Given the description of an element on the screen output the (x, y) to click on. 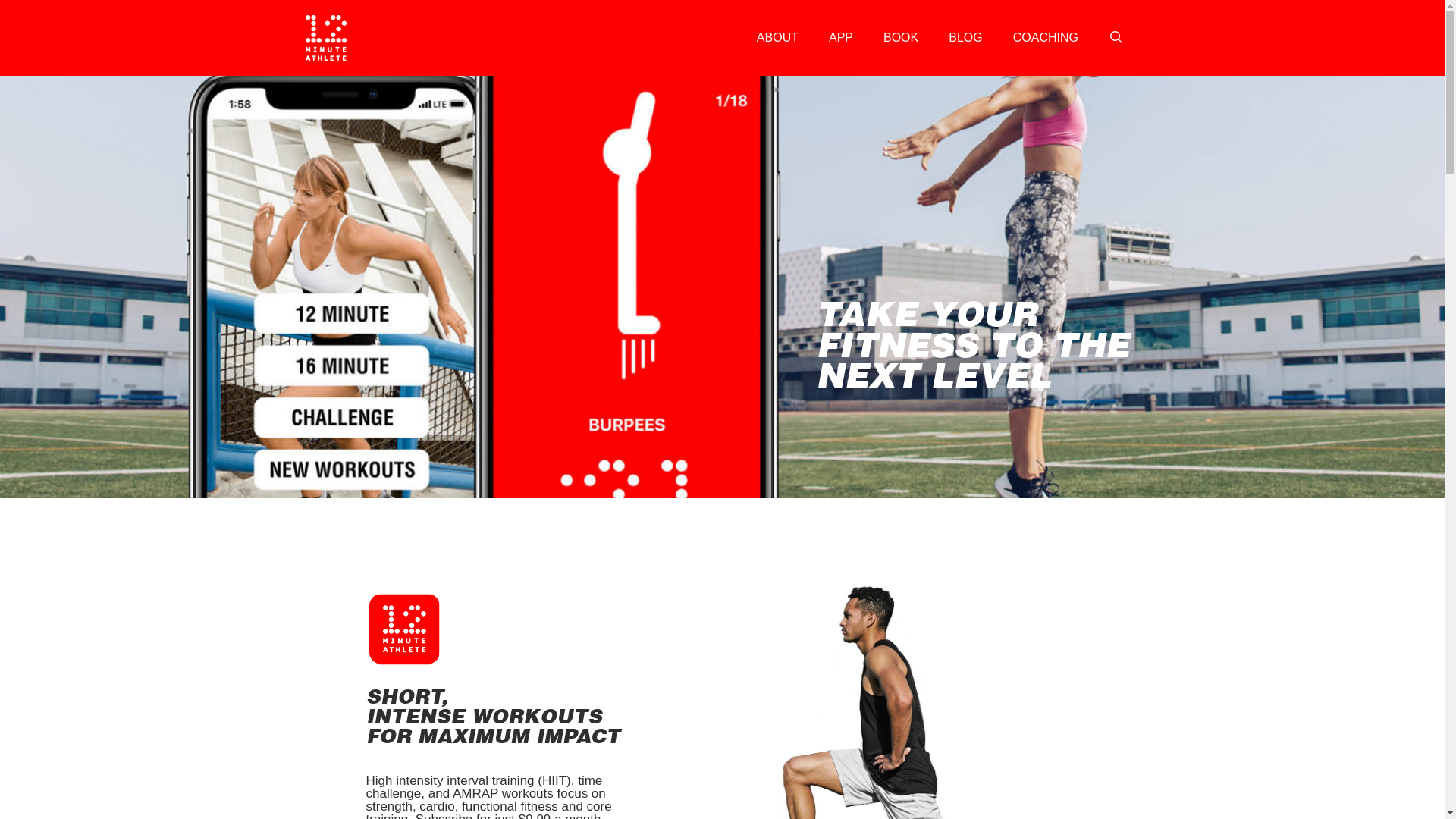
COACHING Element type: text (1045, 37)
12 Minute Athlete Element type: hover (325, 37)
BOOK Element type: text (900, 37)
6 Element type: hover (403, 628)
ABOUT Element type: text (777, 37)
APP Element type: text (840, 37)
BLOG Element type: text (965, 37)
